Given the description of an element on the screen output the (x, y) to click on. 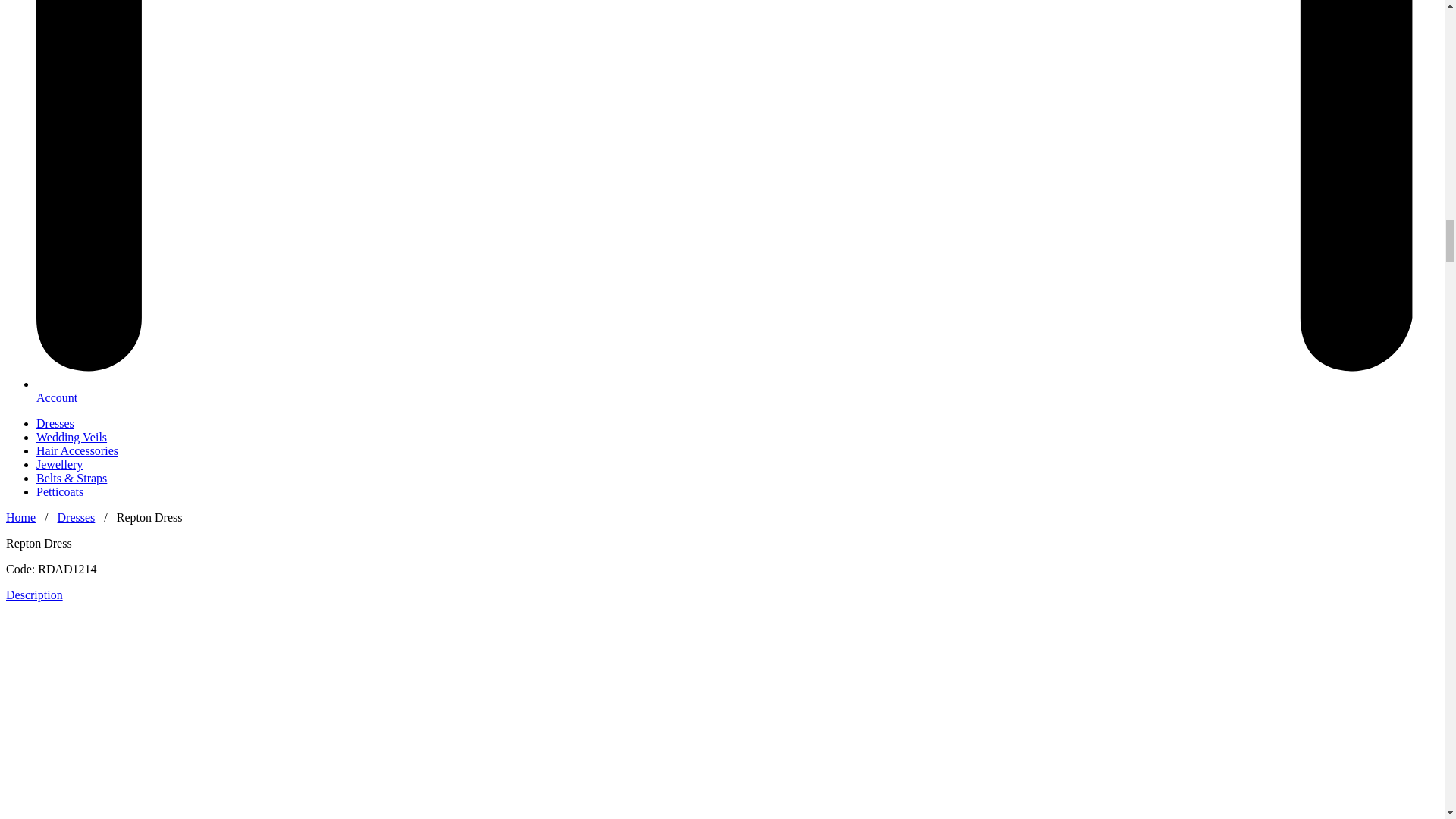
Petticoats (59, 491)
Dresses (55, 422)
Dresses (77, 517)
Wedding Veils (71, 436)
Description (33, 594)
Hair Accessories (76, 450)
Jewellery (59, 463)
Account (56, 397)
Home (19, 517)
